Given the description of an element on the screen output the (x, y) to click on. 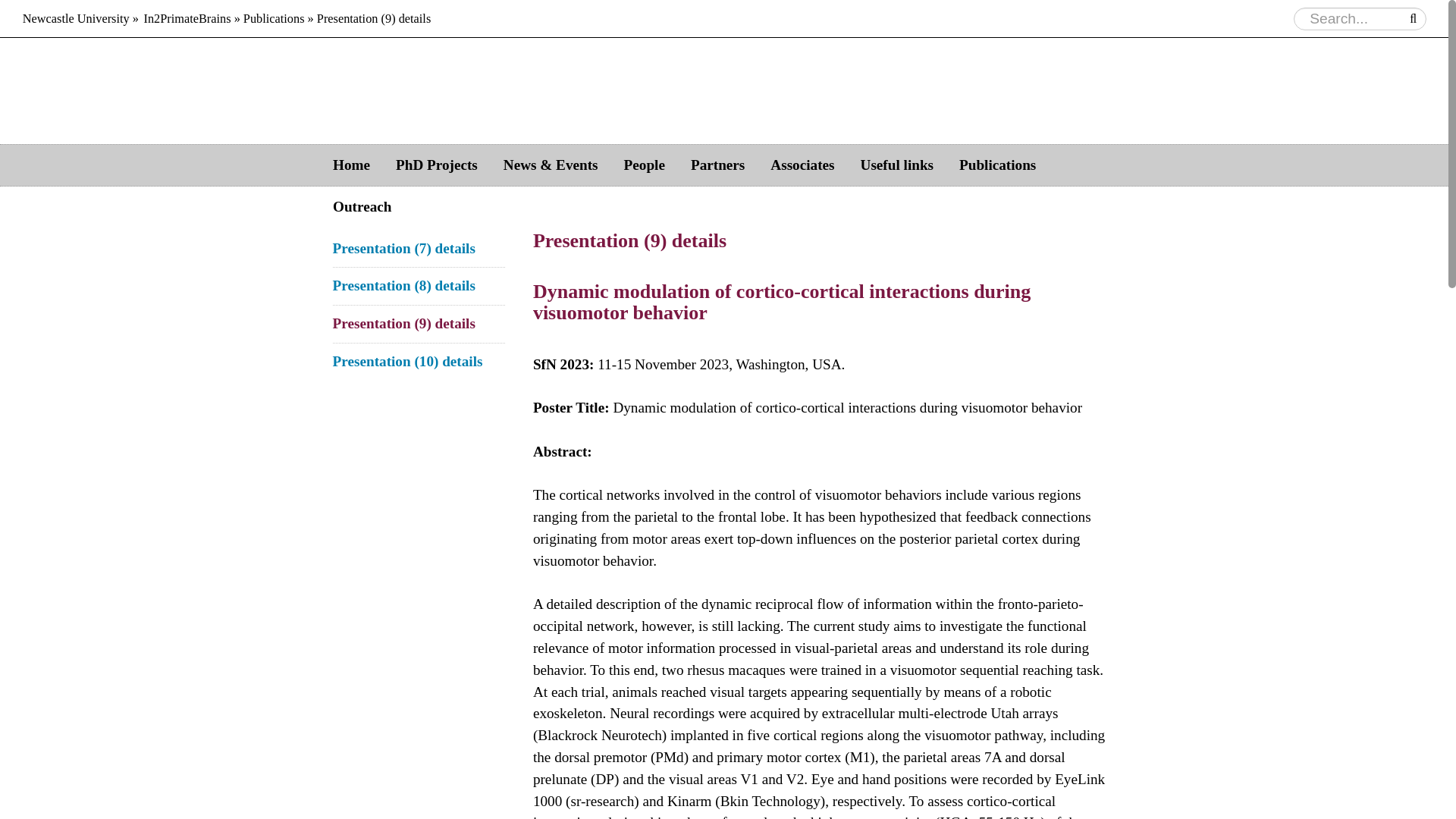
Useful links (897, 165)
Publications (273, 18)
PhD Projects (436, 165)
Associates (802, 165)
Publications (997, 165)
In2PrimateBrains (186, 18)
People (644, 165)
Home (351, 165)
Outreach (362, 207)
Skip to content (776, 165)
Newcastle University (76, 18)
Partners (717, 165)
